Given the description of an element on the screen output the (x, y) to click on. 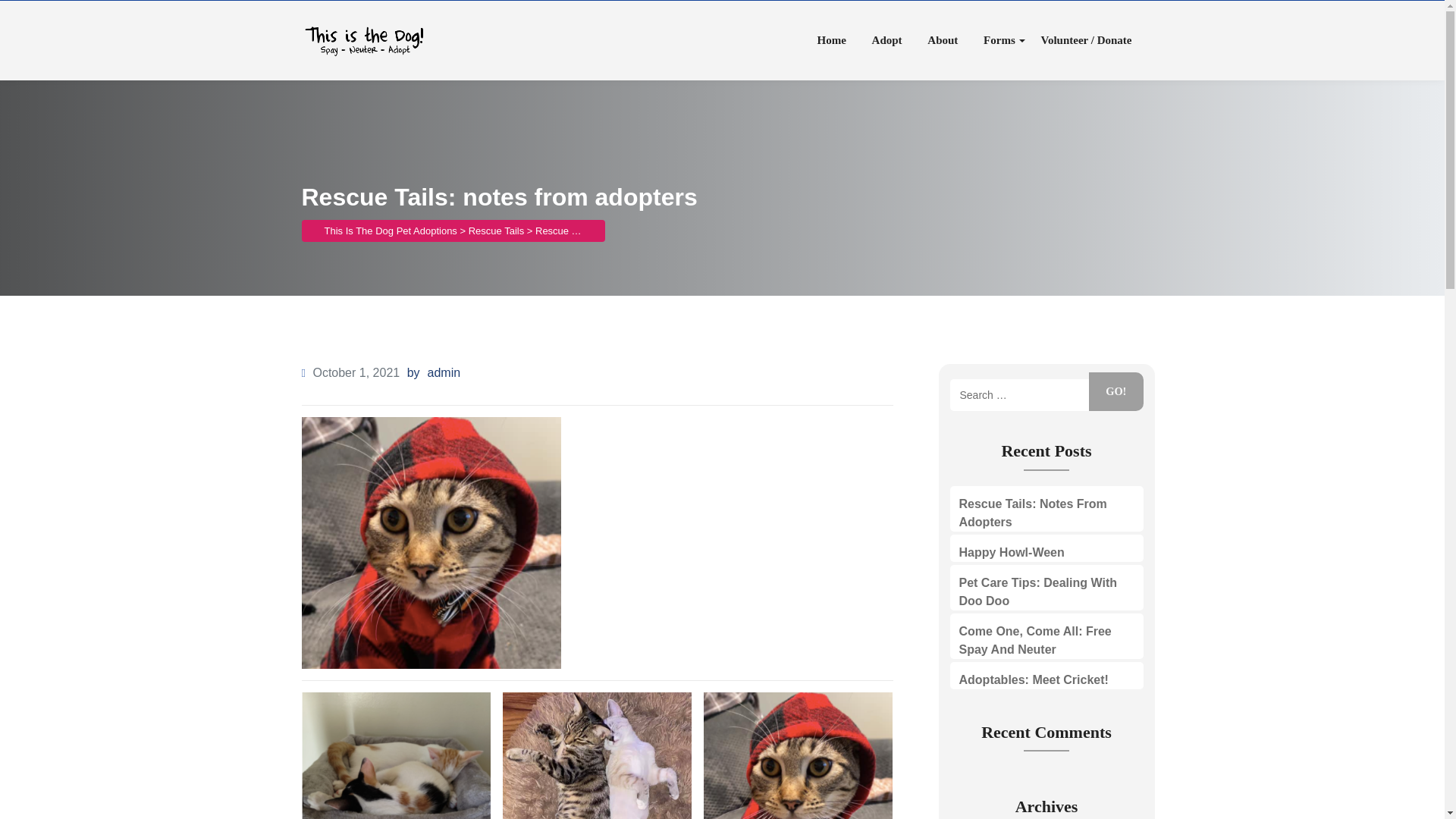
Go to the Rescue Tails Category archives. (496, 230)
Rescue Tails: Notes From Adopters (1032, 512)
Adoptables: Meet Cricket! (1033, 679)
by (413, 372)
GO! (1115, 391)
Go to This Is The Dog Pet Adoptions. (390, 230)
Happy Howl-Ween (1011, 552)
Pet Care Tips: Dealing With Doo Doo (1037, 591)
This Is The Dog Pet Adoptions (390, 230)
Rescue Tails (496, 230)
Home (830, 40)
Come One, Come All: Free Spay And Neuter (1034, 640)
Posts by admin (444, 372)
admin (444, 372)
Adopt (887, 40)
